Given the description of an element on the screen output the (x, y) to click on. 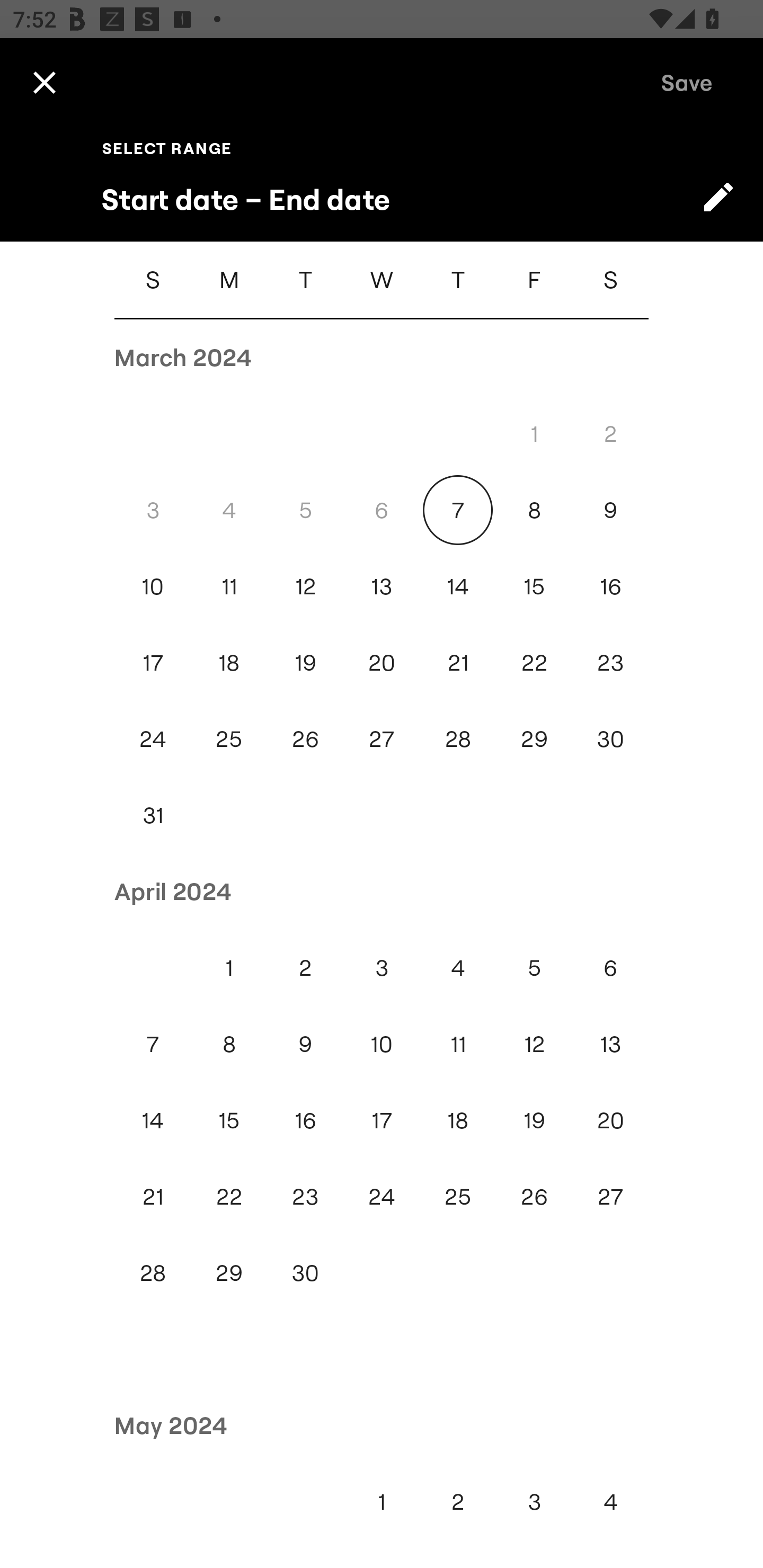
Cancel (44, 81)
Save (686, 81)
Switch to text input mode (718, 196)
1 Fri, Mar 1 (533, 433)
2 Sat, Mar 2 (610, 433)
3 Sun, Mar 3 (152, 509)
4 Mon, Mar 4 (228, 509)
5 Tue, Mar 5 (305, 509)
6 Wed, Mar 6 (381, 509)
7 Thu, Mar 7 (457, 509)
8 Fri, Mar 8 (533, 509)
9 Sat, Mar 9 (610, 509)
10 Sun, Mar 10 (152, 586)
11 Mon, Mar 11 (228, 586)
12 Tue, Mar 12 (305, 586)
13 Wed, Mar 13 (381, 586)
14 Thu, Mar 14 (457, 586)
15 Fri, Mar 15 (533, 586)
16 Sat, Mar 16 (610, 586)
17 Sun, Mar 17 (152, 662)
18 Mon, Mar 18 (228, 662)
19 Tue, Mar 19 (305, 662)
20 Wed, Mar 20 (381, 662)
21 Thu, Mar 21 (457, 662)
22 Fri, Mar 22 (533, 662)
23 Sat, Mar 23 (610, 662)
24 Sun, Mar 24 (152, 738)
25 Mon, Mar 25 (228, 738)
26 Tue, Mar 26 (305, 738)
27 Wed, Mar 27 (381, 738)
28 Thu, Mar 28 (457, 738)
29 Fri, Mar 29 (533, 738)
30 Sat, Mar 30 (610, 738)
31 Sun, Mar 31 (152, 814)
1 Mon, Apr 1 (228, 967)
2 Tue, Apr 2 (305, 967)
3 Wed, Apr 3 (381, 967)
4 Thu, Apr 4 (457, 967)
5 Fri, Apr 5 (533, 967)
6 Sat, Apr 6 (610, 967)
7 Sun, Apr 7 (152, 1043)
8 Mon, Apr 8 (228, 1043)
9 Tue, Apr 9 (305, 1043)
10 Wed, Apr 10 (381, 1043)
11 Thu, Apr 11 (457, 1043)
12 Fri, Apr 12 (533, 1043)
13 Sat, Apr 13 (610, 1043)
14 Sun, Apr 14 (152, 1119)
15 Mon, Apr 15 (228, 1119)
16 Tue, Apr 16 (305, 1119)
17 Wed, Apr 17 (381, 1119)
18 Thu, Apr 18 (457, 1119)
19 Fri, Apr 19 (533, 1119)
20 Sat, Apr 20 (610, 1119)
21 Sun, Apr 21 (152, 1196)
22 Mon, Apr 22 (228, 1196)
23 Tue, Apr 23 (305, 1196)
24 Wed, Apr 24 (381, 1196)
25 Thu, Apr 25 (457, 1196)
26 Fri, Apr 26 (533, 1196)
27 Sat, Apr 27 (610, 1196)
28 Sun, Apr 28 (152, 1272)
29 Mon, Apr 29 (228, 1272)
30 Tue, Apr 30 (305, 1272)
1 Wed, May 1 (381, 1500)
2 Thu, May 2 (457, 1500)
3 Fri, May 3 (533, 1500)
4 Sat, May 4 (610, 1500)
